Given the description of an element on the screen output the (x, y) to click on. 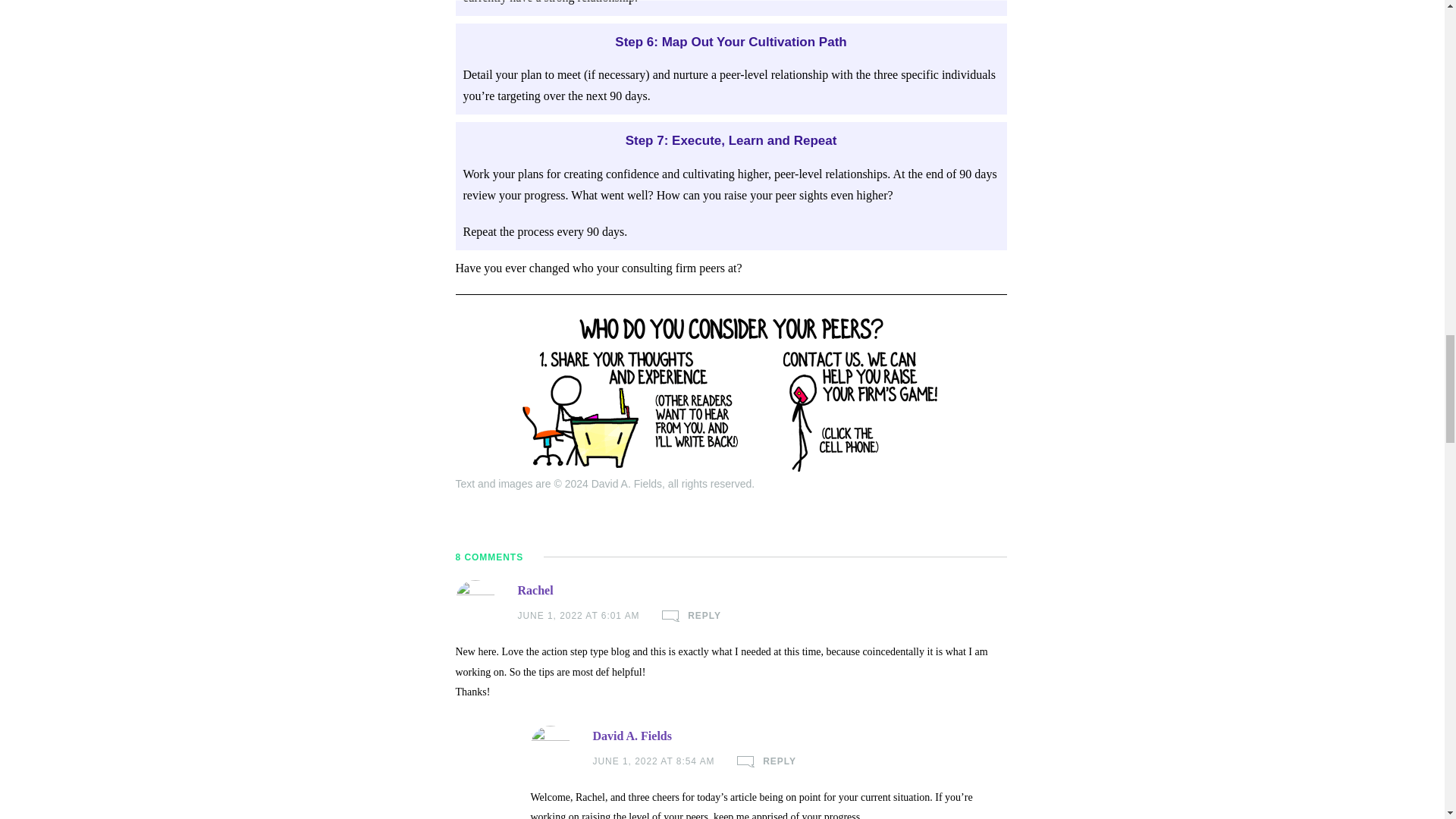
REPLY (766, 761)
REPLY (691, 616)
